Given the description of an element on the screen output the (x, y) to click on. 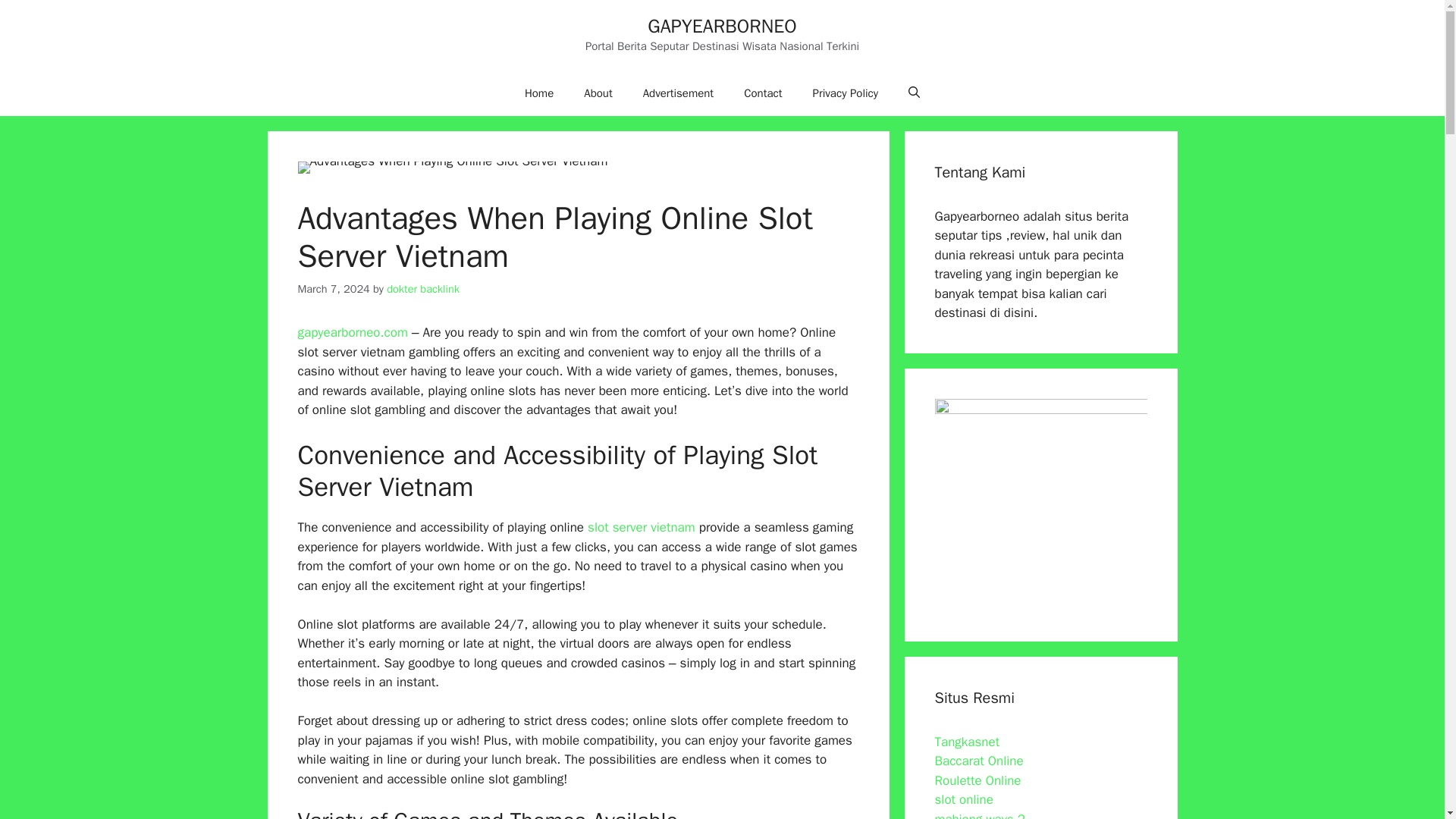
Privacy Policy (845, 92)
About (598, 92)
Home (539, 92)
Roulette Online (977, 779)
mahjong ways 2 (979, 815)
Baccarat Online (978, 760)
GAPYEARBORNEO (721, 25)
dokter backlink (423, 288)
Advertisement (678, 92)
gapyearborneo.com (352, 332)
View all posts by dokter backlink (423, 288)
Tangkasnet (966, 741)
slot online (963, 799)
Contact (762, 92)
slot server vietnam (641, 527)
